Given the description of an element on the screen output the (x, y) to click on. 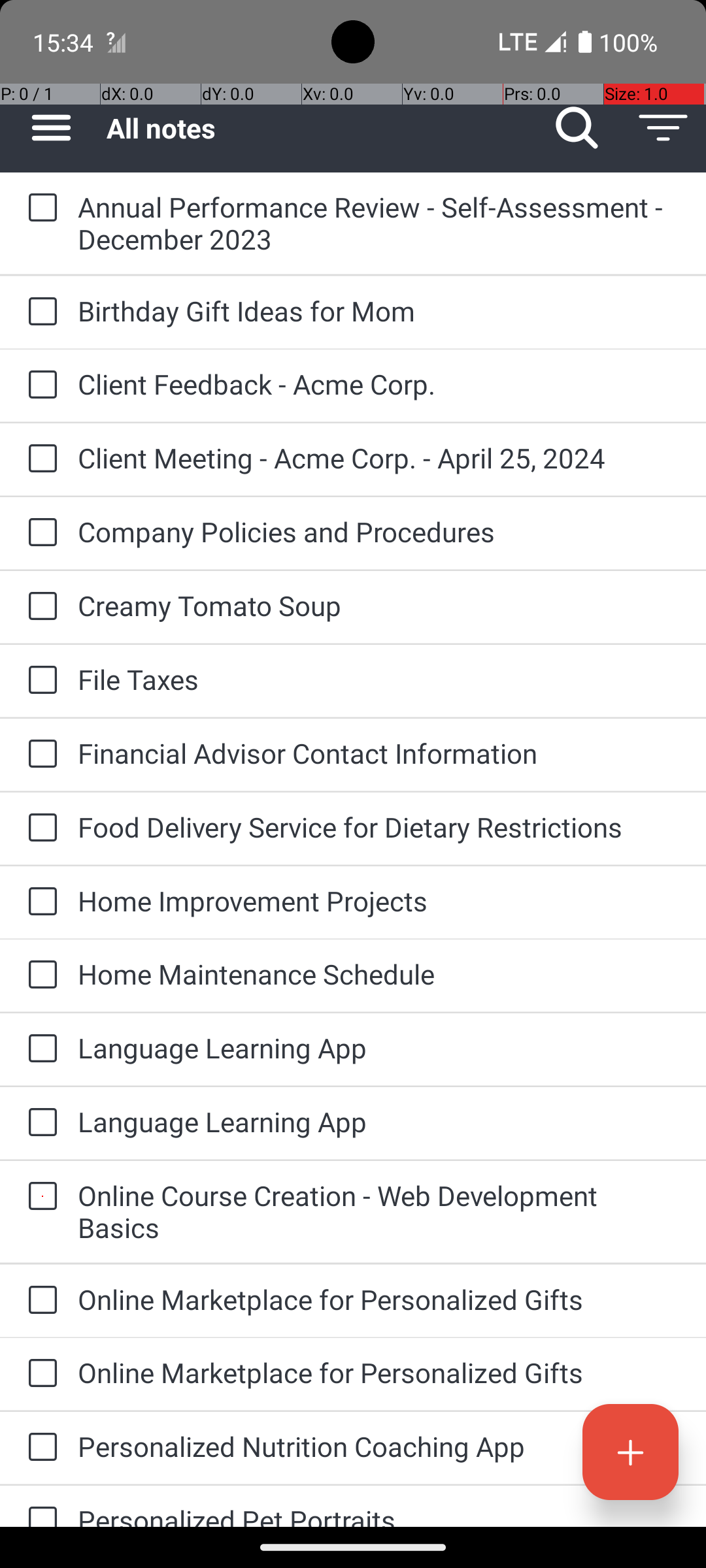
to-do: Birthday Gift Ideas for Mom Element type: android.widget.CheckBox (38, 312)
to-do: Client Feedback - Acme Corp. Element type: android.widget.CheckBox (38, 385)
Client Feedback - Acme Corp. Element type: android.widget.TextView (378, 383)
to-do: Client Meeting - Acme Corp. - April 25, 2024 Element type: android.widget.CheckBox (38, 459)
Client Meeting - Acme Corp. - April 25, 2024 Element type: android.widget.TextView (378, 457)
to-do: Company Policies and Procedures Element type: android.widget.CheckBox (38, 533)
Company Policies and Procedures Element type: android.widget.TextView (378, 531)
to-do: Creamy Tomato Soup Element type: android.widget.CheckBox (38, 606)
Creamy Tomato Soup Element type: android.widget.TextView (378, 604)
to-do: File Taxes Element type: android.widget.CheckBox (38, 680)
File Taxes Element type: android.widget.TextView (378, 678)
to-do: Food Delivery Service for Dietary Restrictions Element type: android.widget.CheckBox (38, 828)
Food Delivery Service for Dietary Restrictions Element type: android.widget.TextView (378, 826)
to-do: Home Improvement Projects Element type: android.widget.CheckBox (38, 902)
Home Improvement Projects Element type: android.widget.TextView (378, 900)
to-do: Home Maintenance Schedule Element type: android.widget.CheckBox (38, 975)
Home Maintenance Schedule Element type: android.widget.TextView (378, 973)
to-do: Language Learning App Element type: android.widget.CheckBox (38, 1049)
Language Learning App Element type: android.widget.TextView (378, 1047)
to-do: Online Course Creation - Web Development Basics Element type: android.widget.CheckBox (38, 1196)
Online Course Creation - Web Development Basics Element type: android.widget.TextView (378, 1210)
to-do: Online Marketplace for Personalized Gifts Element type: android.widget.CheckBox (38, 1300)
Online Marketplace for Personalized Gifts Element type: android.widget.TextView (378, 1298)
to-do: Personalized Nutrition Coaching App Element type: android.widget.CheckBox (38, 1447)
Personalized Nutrition Coaching App Element type: android.widget.TextView (378, 1445)
to-do: Personalized Pet Portraits Element type: android.widget.CheckBox (38, 1505)
Personalized Pet Portraits Element type: android.widget.TextView (378, 1513)
